Given the description of an element on the screen output the (x, y) to click on. 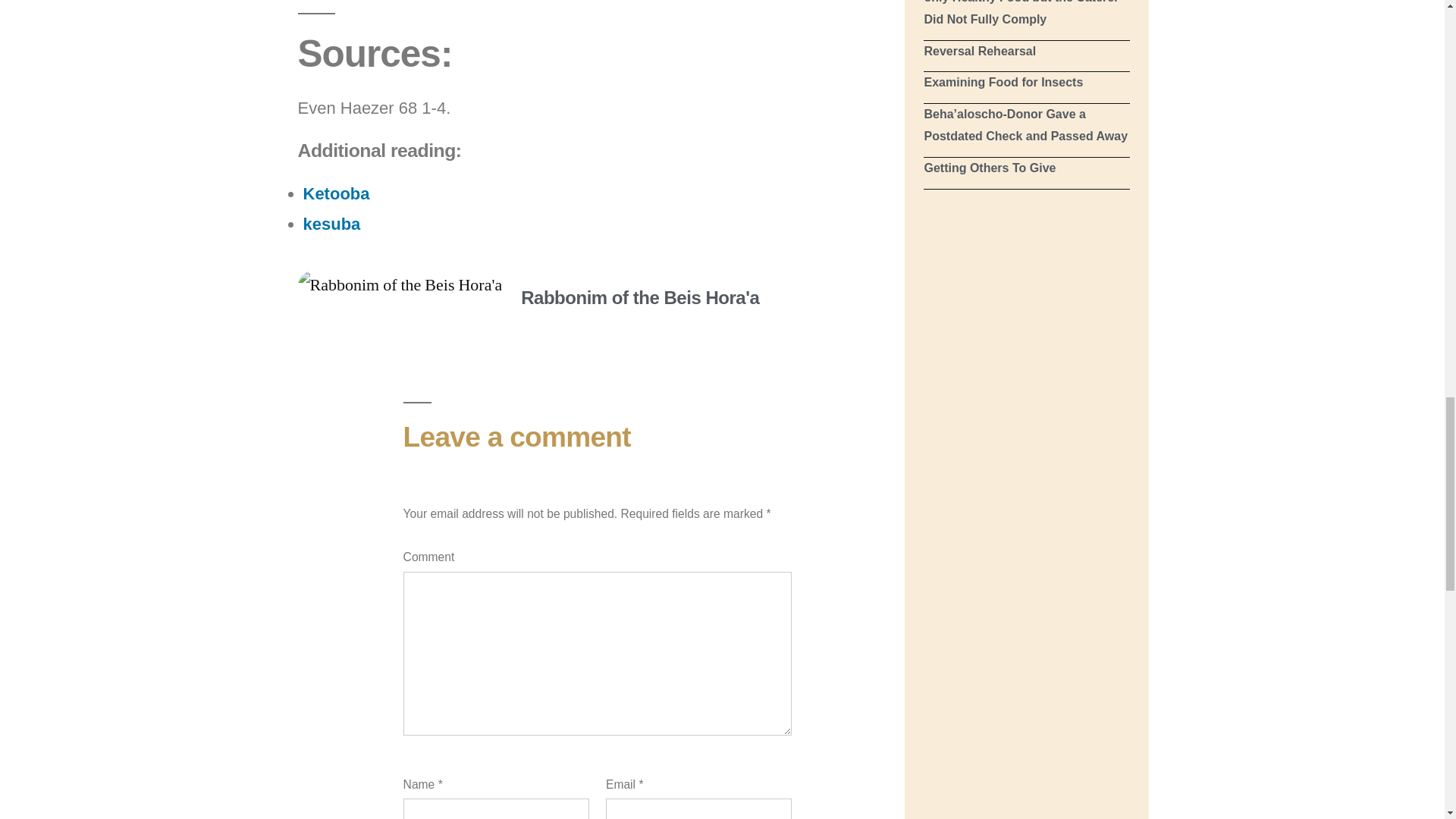
kesuba (331, 223)
kesuba (331, 223)
Ketooba (335, 193)
Ketooba (335, 193)
